Given the description of an element on the screen output the (x, y) to click on. 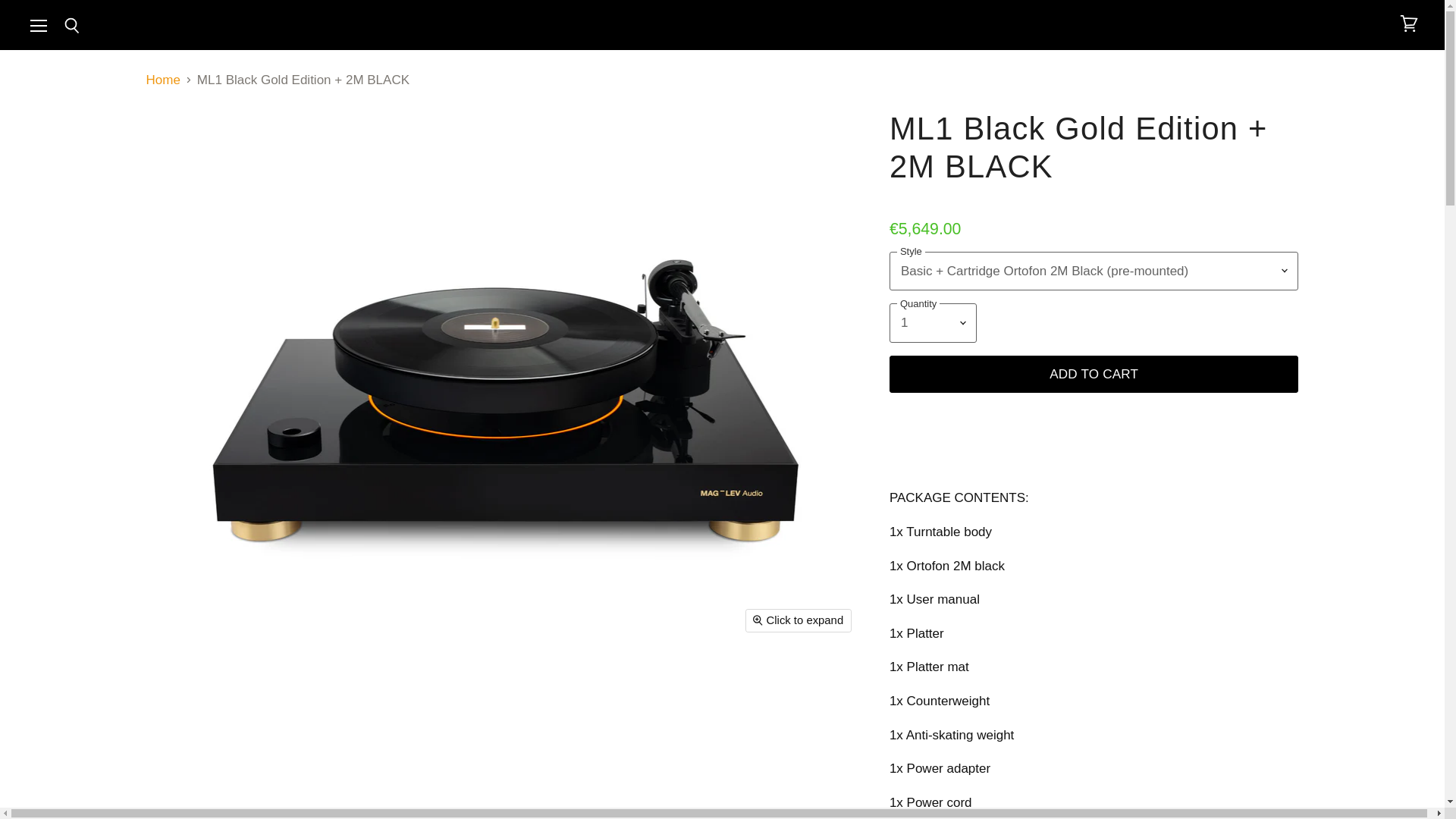
Menu (39, 24)
Home (162, 79)
Search (71, 26)
Click to expand (798, 620)
ADD TO CART (1093, 374)
